Given the description of an element on the screen output the (x, y) to click on. 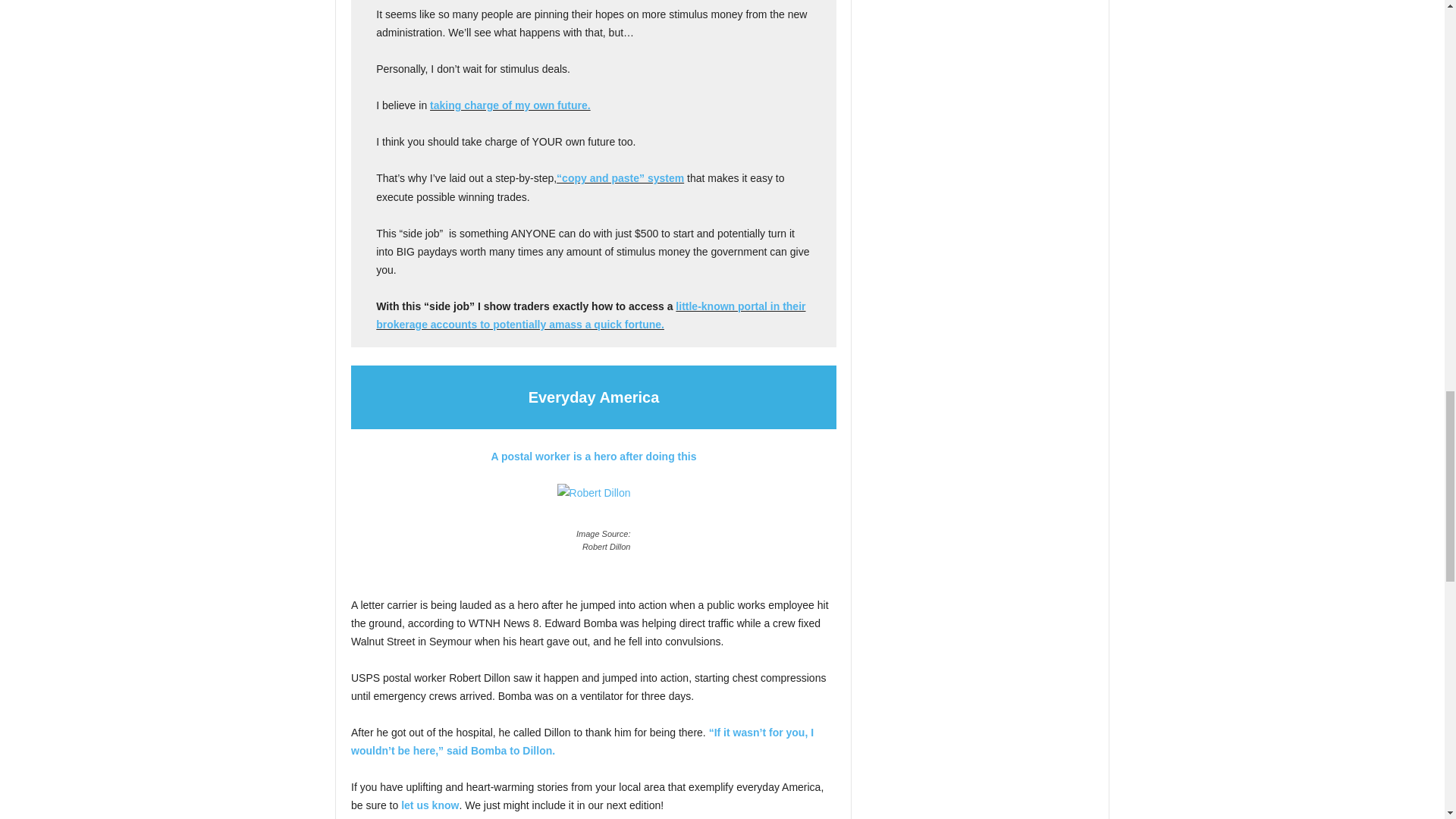
Robert Dillon (593, 504)
